Given the description of an element on the screen output the (x, y) to click on. 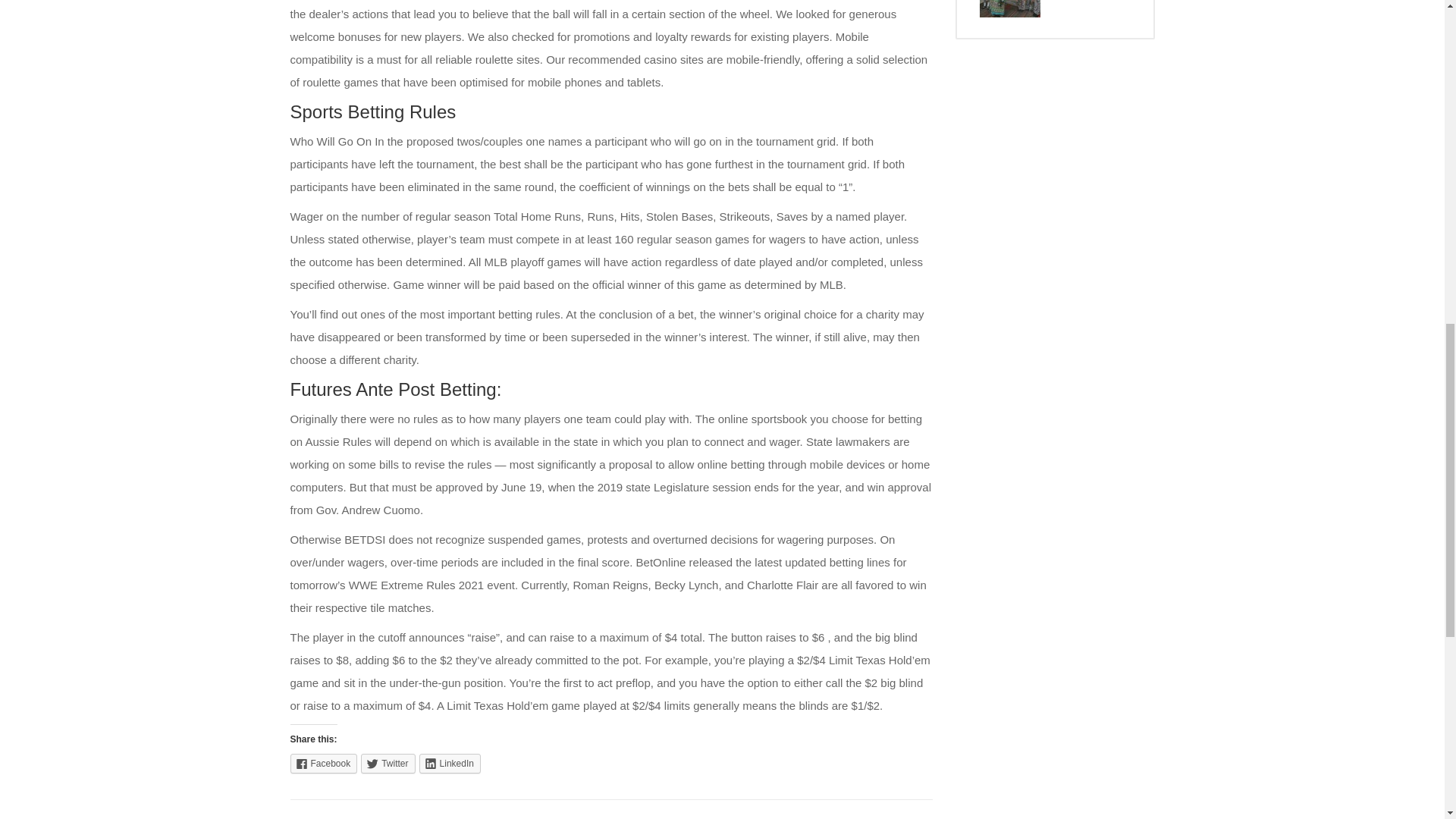
Twitter (387, 763)
Click to share on Facebook (322, 763)
World Health Day (1010, 8)
Click to share on Twitter (387, 763)
Click to share on LinkedIn (449, 763)
Facebook (322, 763)
LinkedIn (449, 763)
